Given the description of an element on the screen output the (x, y) to click on. 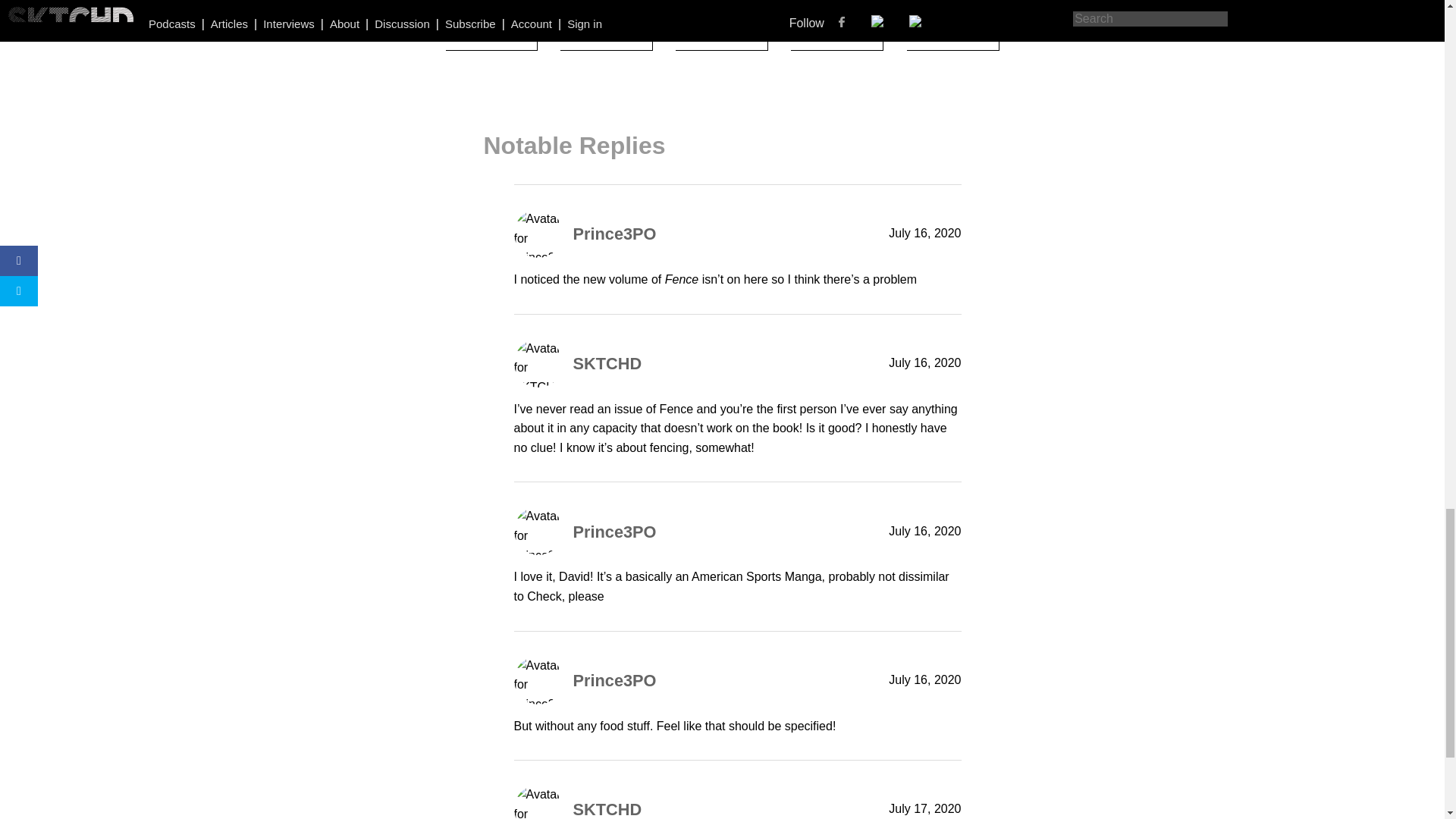
Prince3PO (614, 680)
SKTCHD (607, 809)
Prince3PO (614, 531)
SKTCHD (607, 363)
Prince3PO (614, 233)
